Given the description of an element on the screen output the (x, y) to click on. 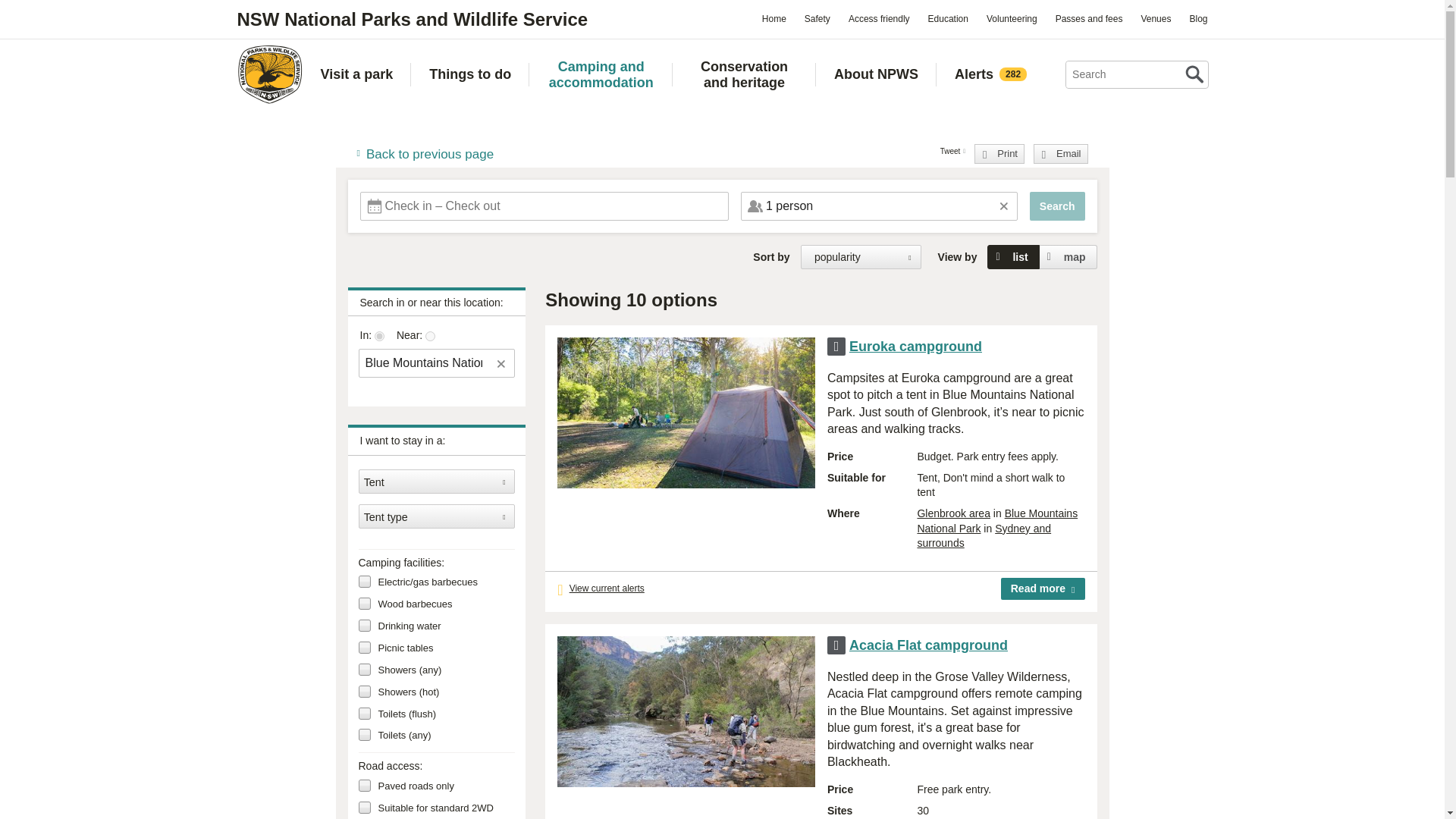
Access friendly (879, 18)
Blog (1197, 18)
Home (773, 18)
Home (268, 74)
Visit a park (356, 73)
Blue Mountains National Park (424, 362)
Venues (1155, 18)
